Given the description of an element on the screen output the (x, y) to click on. 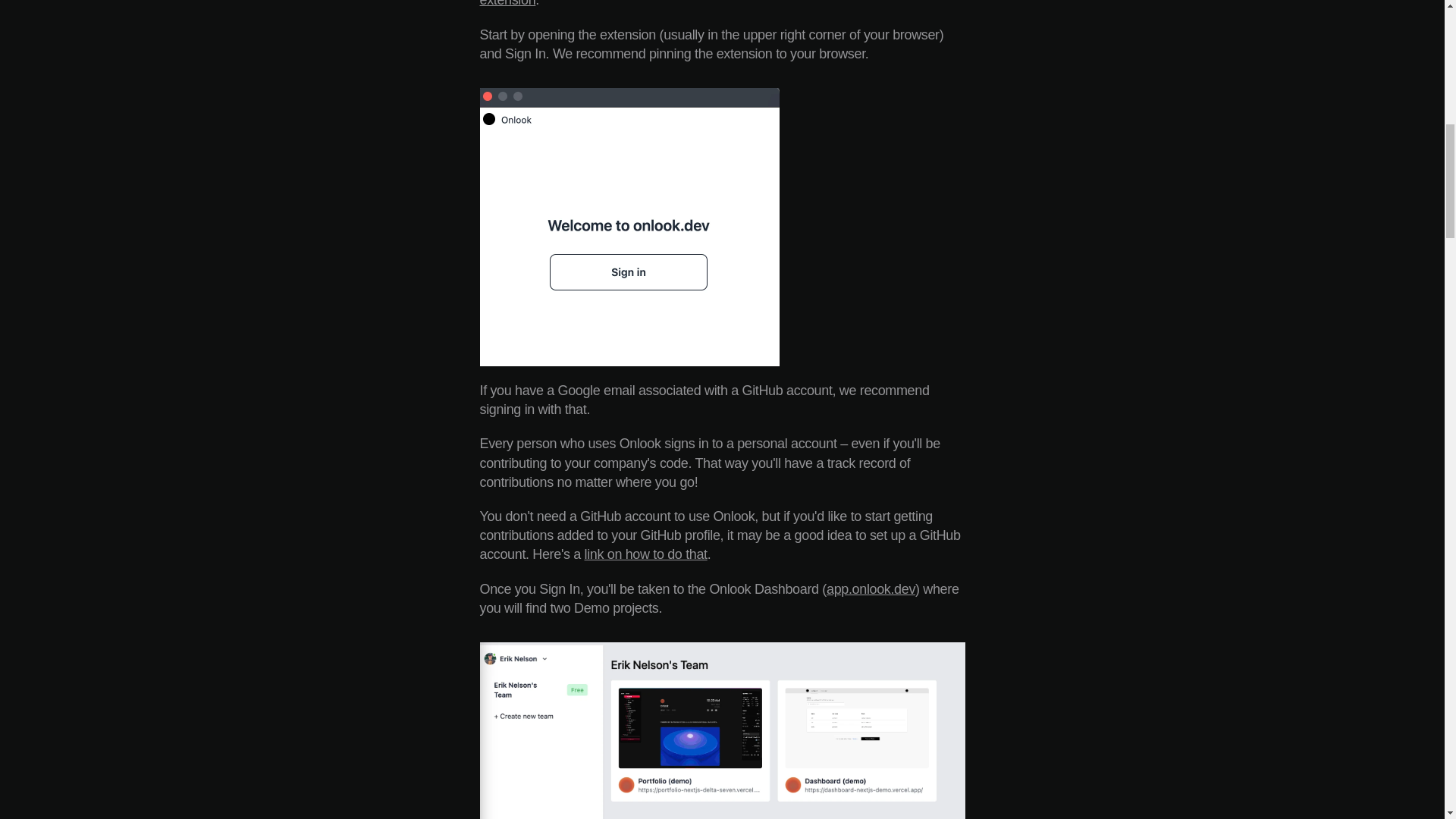
app.onlook.dev (871, 589)
Onlook Chrome extension (700, 3)
link on how to do that (646, 554)
